Given the description of an element on the screen output the (x, y) to click on. 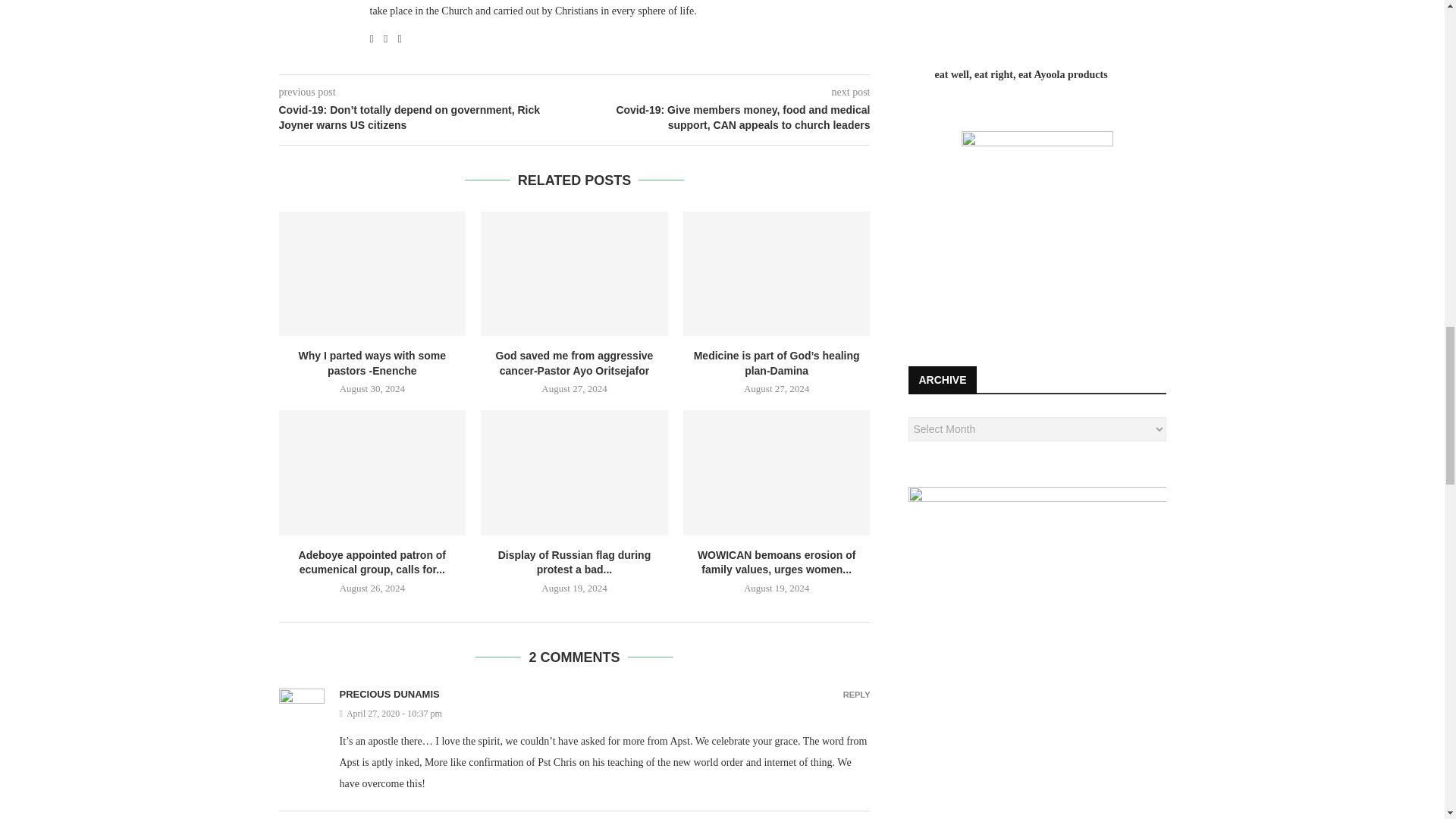
Monday, April 27, 2020, 10:37 pm (604, 713)
Why I parted ways with some pastors -Enenche (372, 273)
God saved me from aggressive cancer-Pastor Ayo Oritsejafor (574, 273)
